Given the description of an element on the screen output the (x, y) to click on. 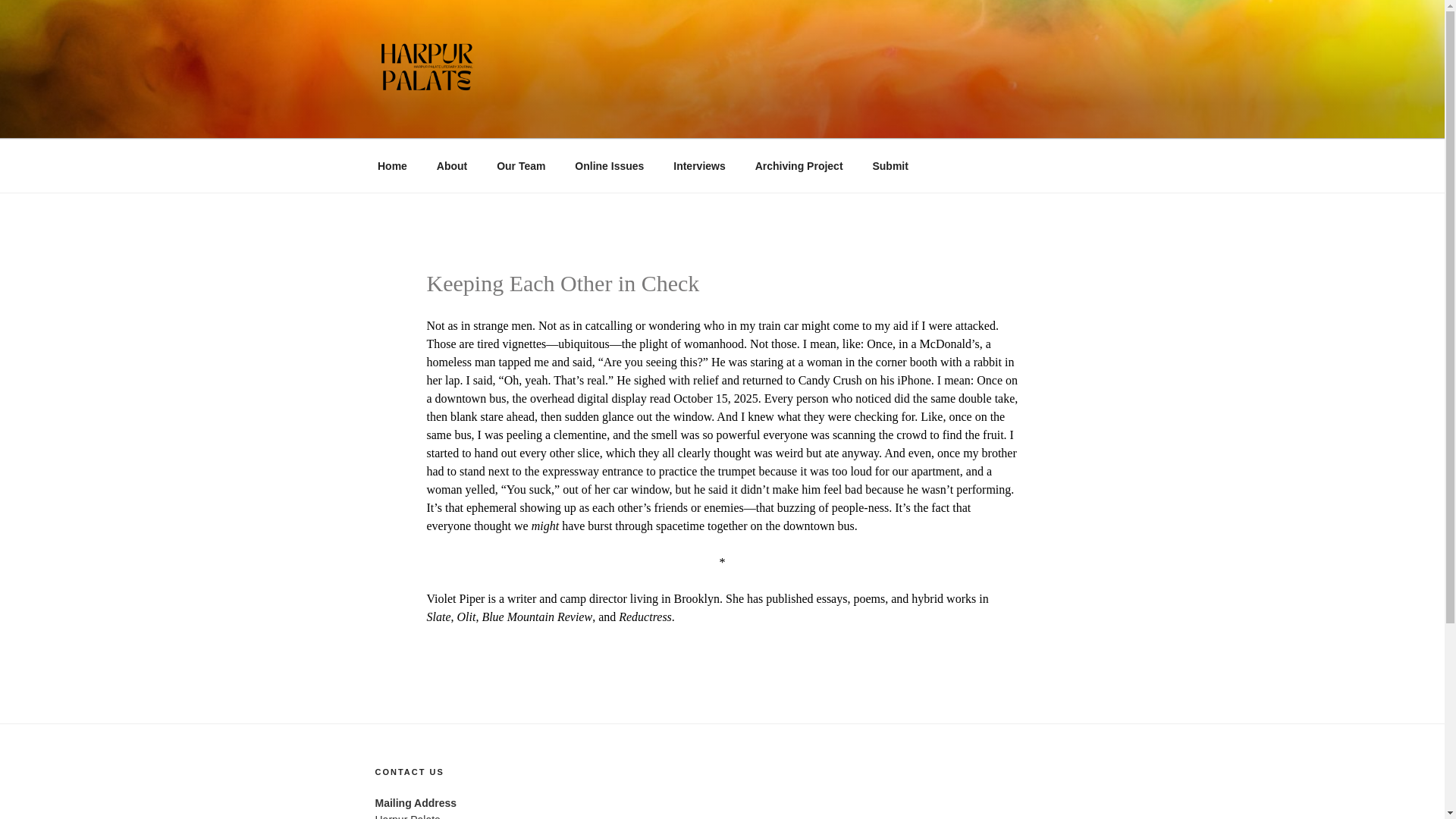
Submit (890, 165)
Online Issues (610, 165)
Interviews (699, 165)
Home (392, 165)
Archiving Project (798, 165)
Our Team (521, 165)
HARPUR PALATE (507, 119)
About (451, 165)
